Given the description of an element on the screen output the (x, y) to click on. 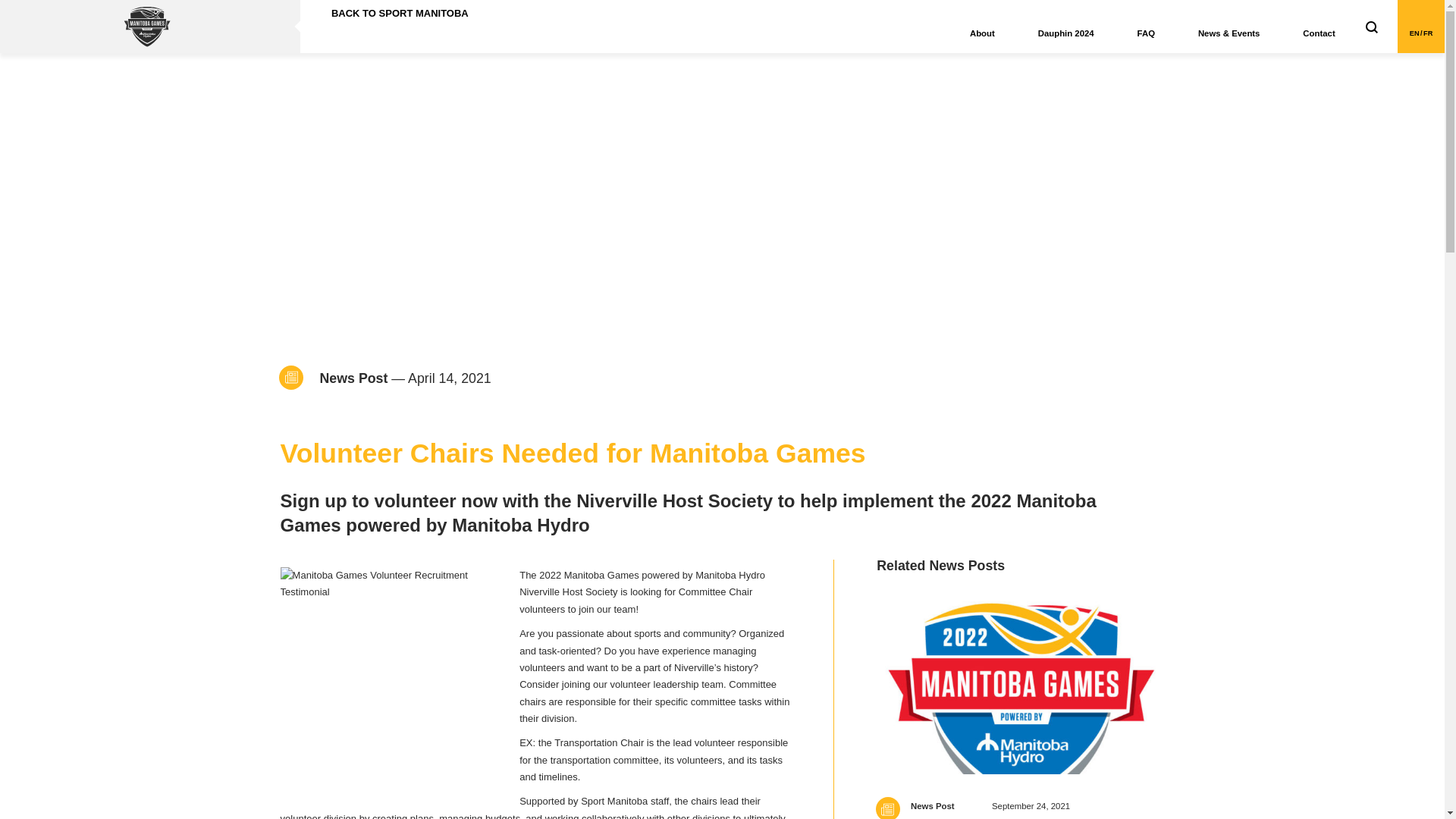
Subscribe (40, 12)
BACK TO SPORT MANITOBA (394, 13)
Contact (1318, 26)
FAQ (1145, 26)
About (981, 26)
Dauphin 2024 (1065, 26)
